Given the description of an element on the screen output the (x, y) to click on. 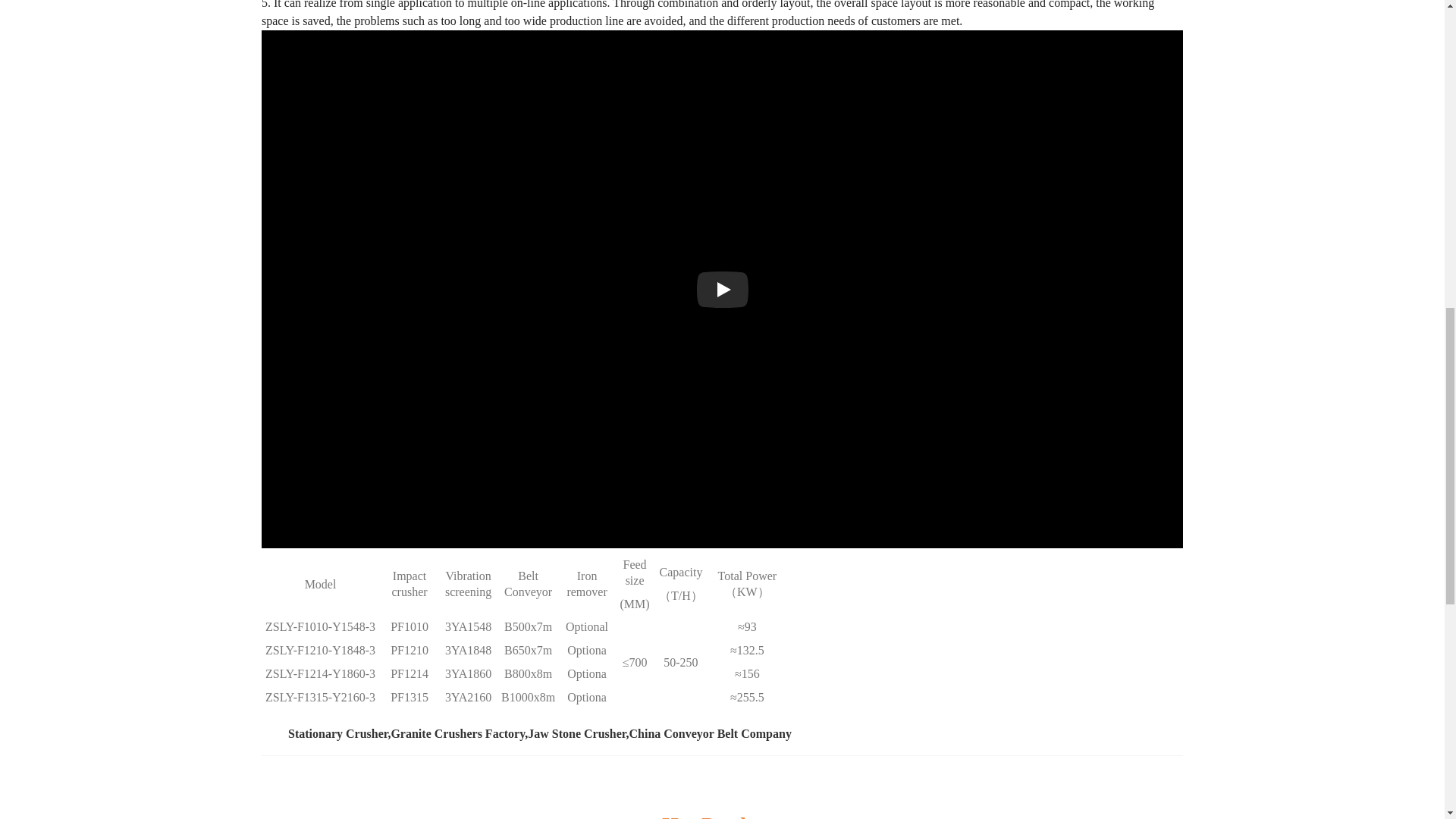
Stationary Crusher (337, 733)
Jaw Stone Crusher (576, 733)
Play (721, 289)
China Conveyor Belt Company (709, 733)
Granite Crushers Factory (457, 733)
